Given the description of an element on the screen output the (x, y) to click on. 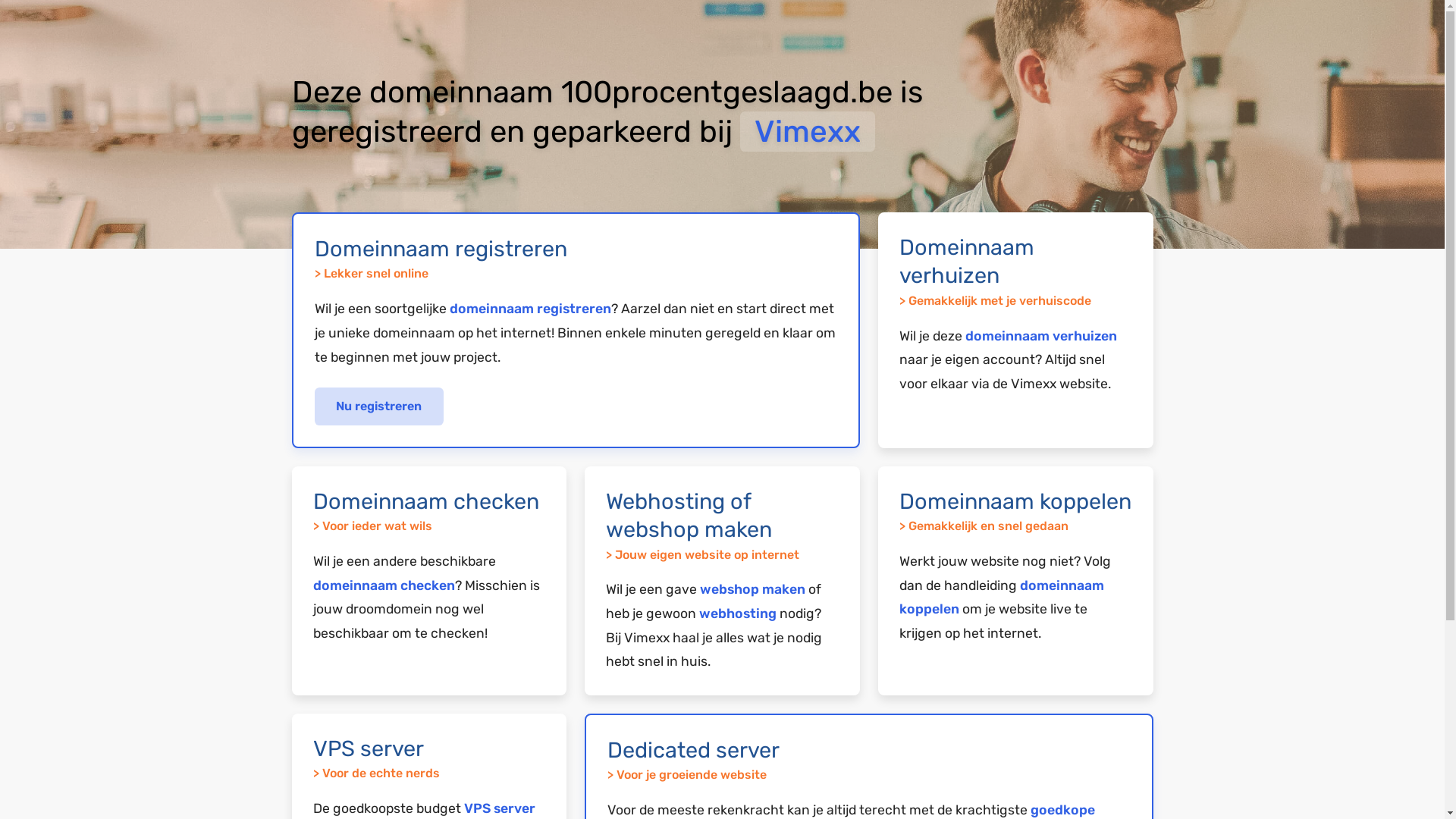
Nu registreren Element type: text (378, 406)
domeinnaam koppelen Element type: text (1001, 597)
VPS server Element type: text (499, 807)
webhosting Element type: text (737, 613)
domeinnaam registreren Element type: text (529, 308)
domeinnaam checken Element type: text (383, 585)
webshop maken Element type: text (752, 588)
domeinnaam verhuizen Element type: text (1041, 335)
Vimexx Element type: text (807, 131)
